Given the description of an element on the screen output the (x, y) to click on. 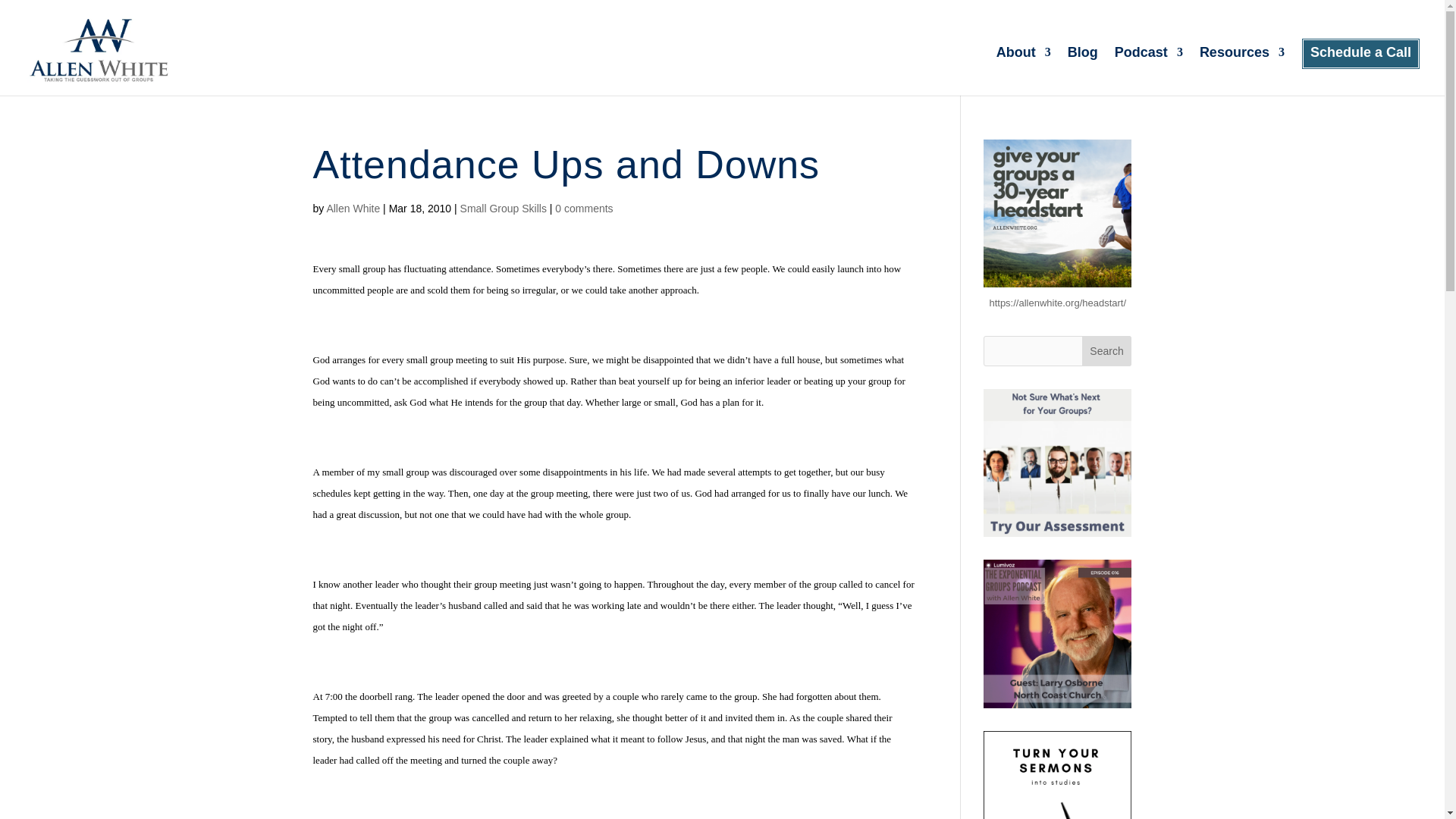
Resources (1241, 70)
Podcast (1148, 70)
Posts by Allen White (353, 208)
Schedule a Call (1360, 70)
About (1023, 70)
